Given the description of an element on the screen output the (x, y) to click on. 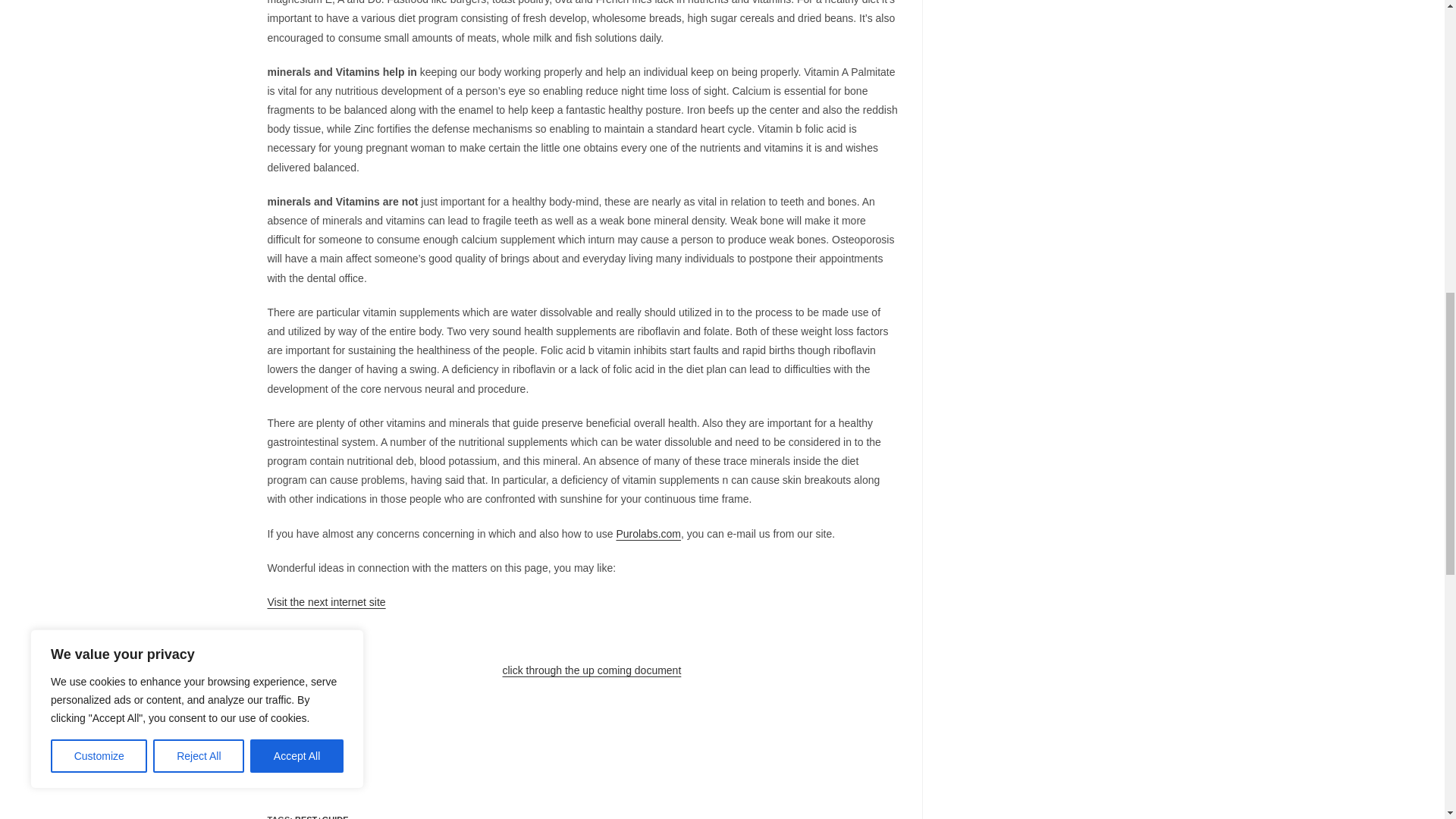
Learn Even more (306, 635)
Visit the next internet site (325, 602)
Purolabs.com (648, 533)
click through the up coming document (591, 670)
